Given the description of an element on the screen output the (x, y) to click on. 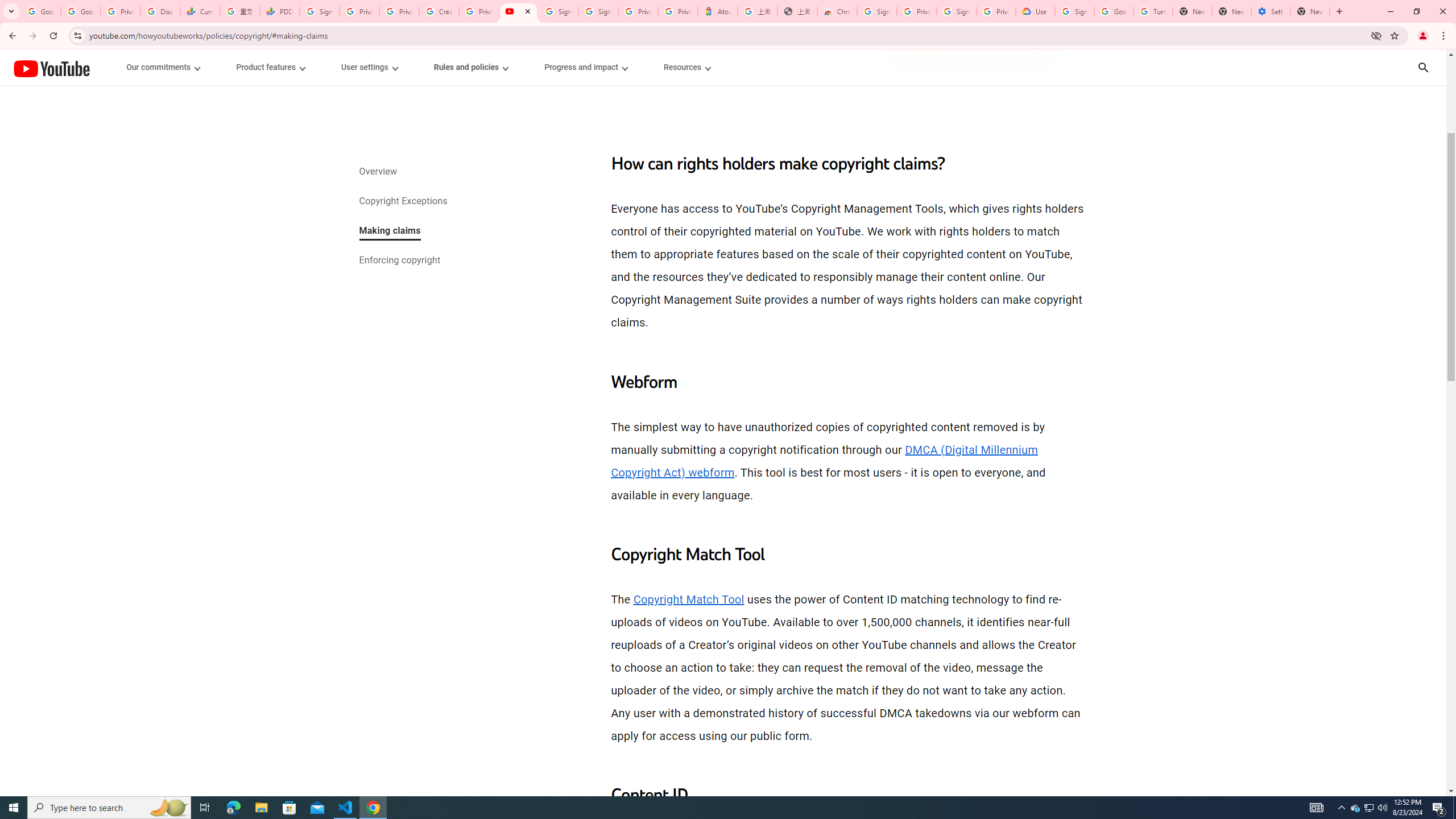
Settings - System (1270, 11)
Turn cookies on or off - Computer - Google Account Help (1152, 11)
User settings menupopup (368, 67)
Enforcing copyright (399, 261)
Resources menupopup (686, 67)
Google Workspace Admin Community (40, 11)
Atour Hotel - Google hotels (717, 11)
Sign in - Google Accounts (319, 11)
